Given the description of an element on the screen output the (x, y) to click on. 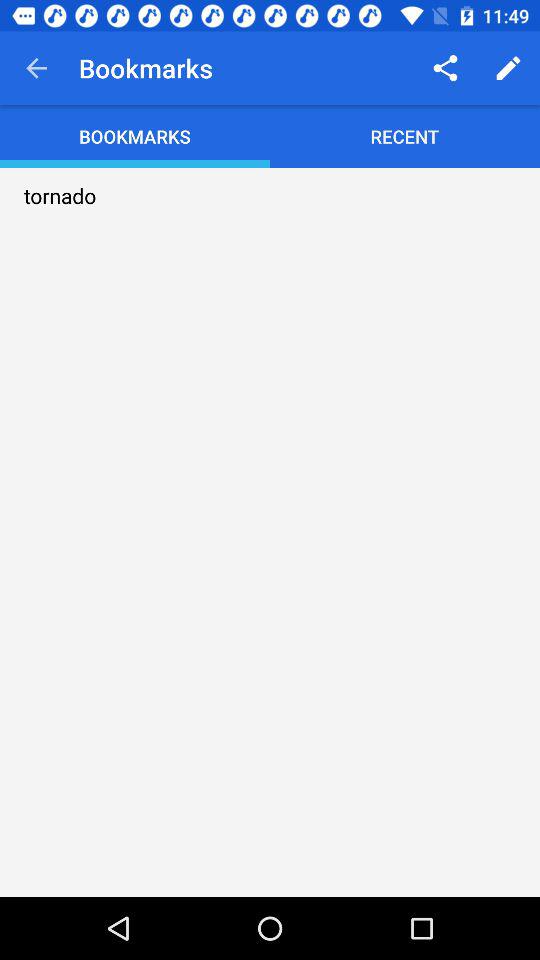
select the item to the left of bookmarks (36, 68)
